Given the description of an element on the screen output the (x, y) to click on. 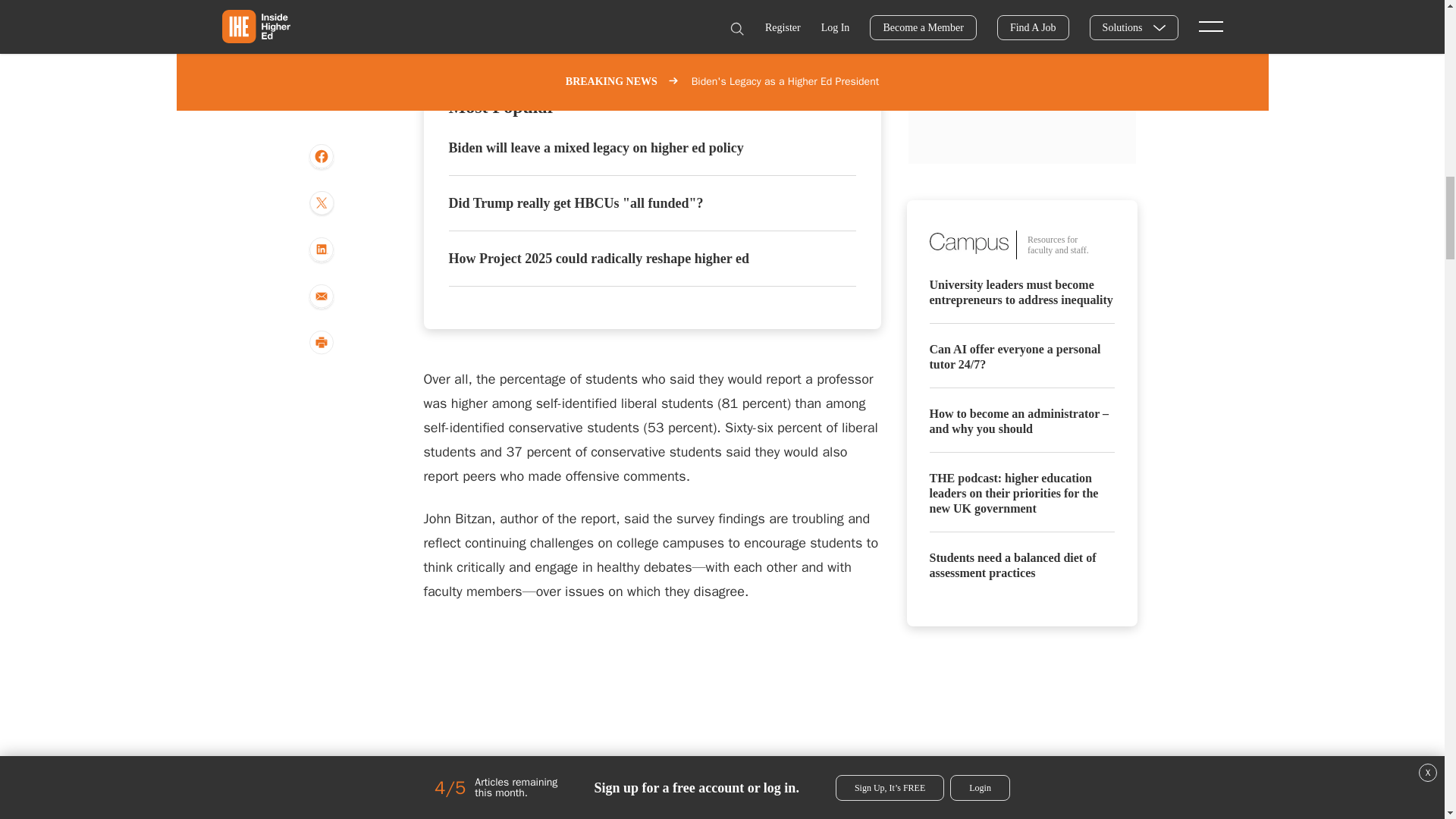
Interactive or visual content (651, 720)
